Given the description of an element on the screen output the (x, y) to click on. 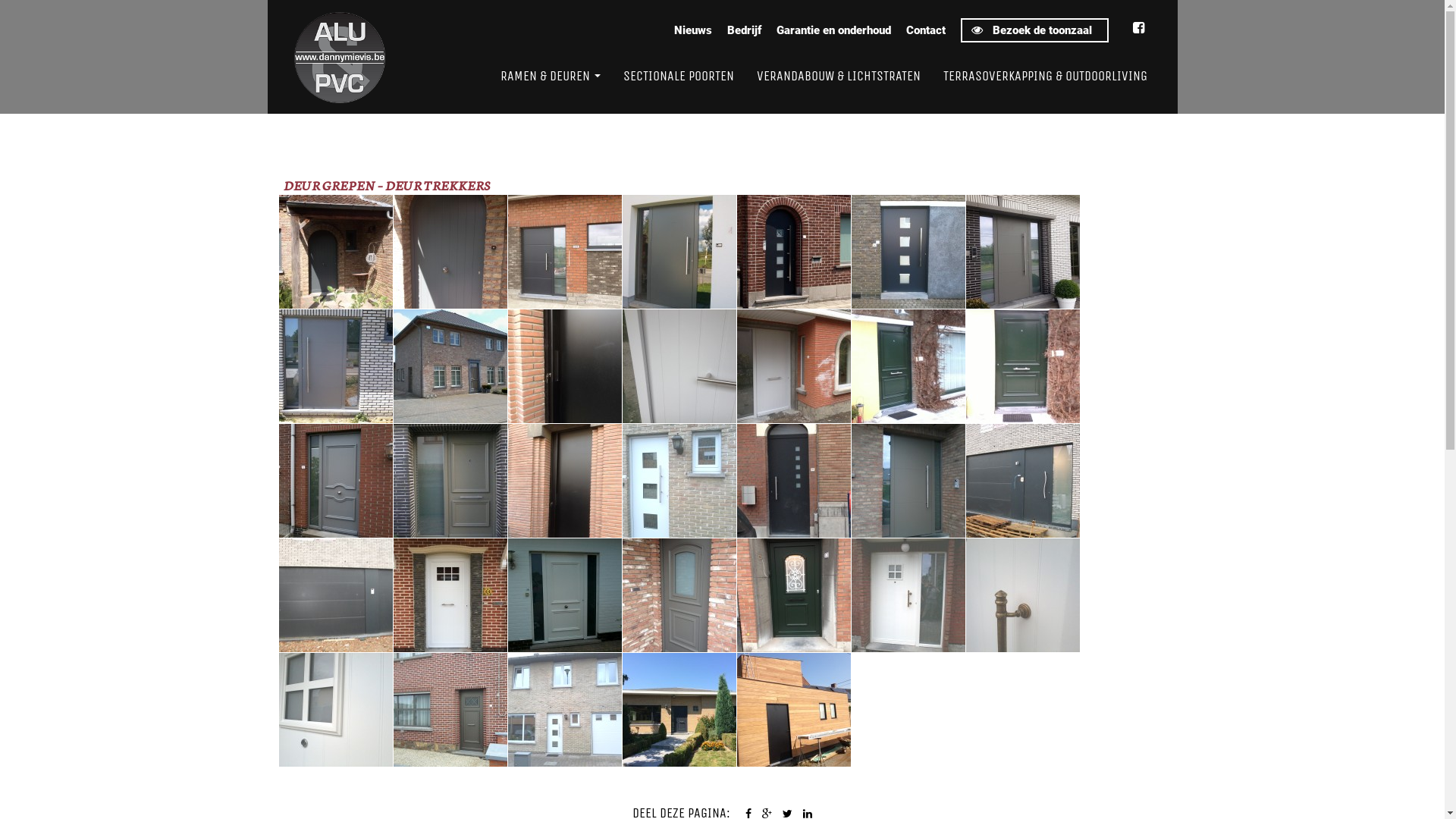
SECTIONALE POORTEN Element type: text (677, 75)
Nieuws Element type: text (692, 30)
Garantie en onderhoud Element type: text (833, 30)
RAMEN & DEUREN Element type: text (549, 75)
TERRASOVERKAPPING & OUTDOORLIVING Element type: text (1044, 75)
VERANDABOUW & LICHTSTRATEN Element type: text (837, 75)
Contact Element type: text (924, 30)
Bezoek de toonzaal Element type: text (1033, 30)
Bedrijf Element type: text (743, 30)
